Given the description of an element on the screen output the (x, y) to click on. 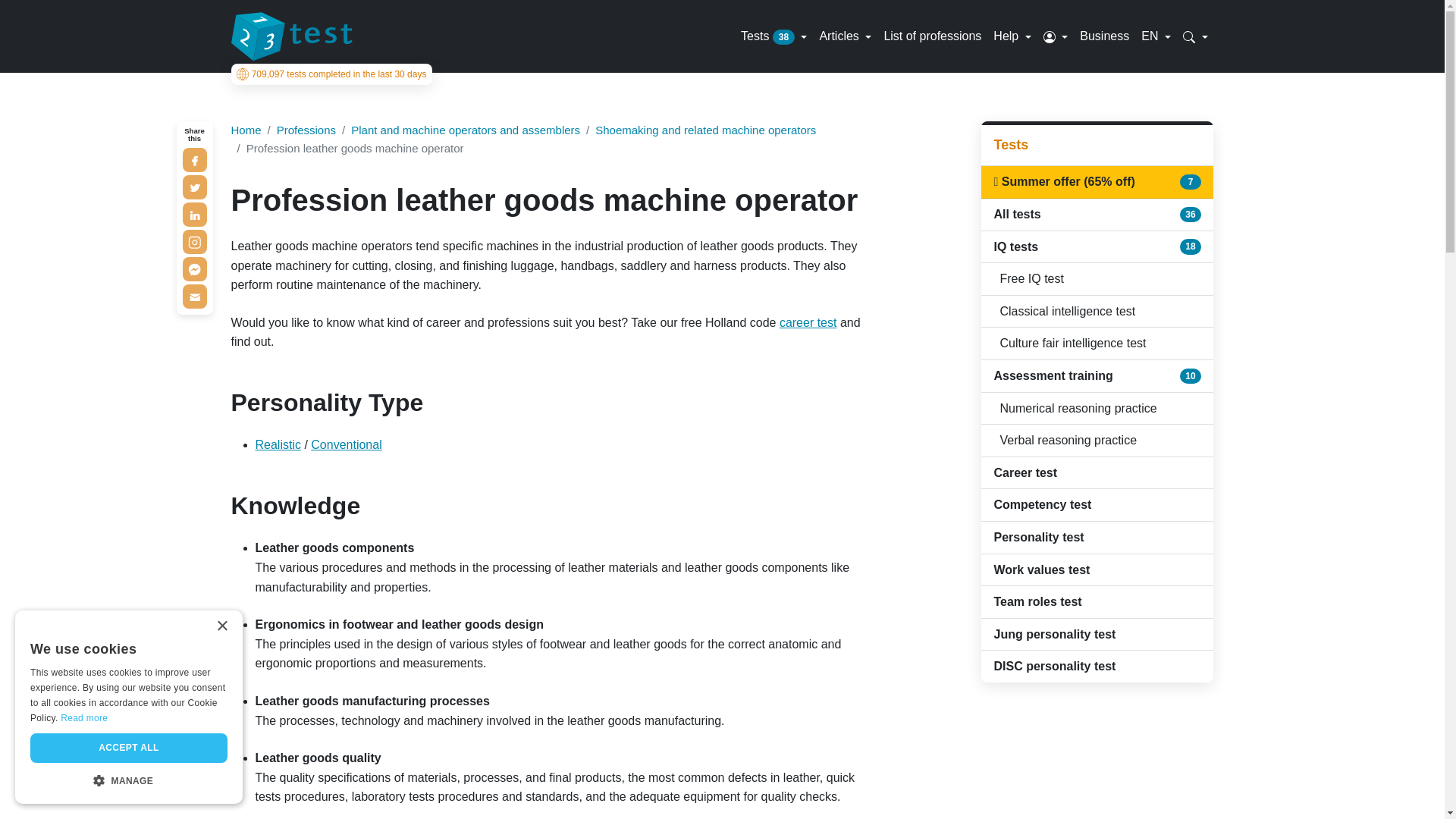
Instagram (194, 241)
List of professions (932, 36)
Share on Twitter (194, 187)
Help (1011, 36)
Email (194, 296)
Share on Facebook messenger (194, 269)
Career test (807, 322)
709,097 tests completed in the last 30 days (331, 74)
Articles (844, 36)
Share on Facebook (194, 159)
Tests 38 (773, 36)
Share on LinkedIn (194, 214)
